Given the description of an element on the screen output the (x, y) to click on. 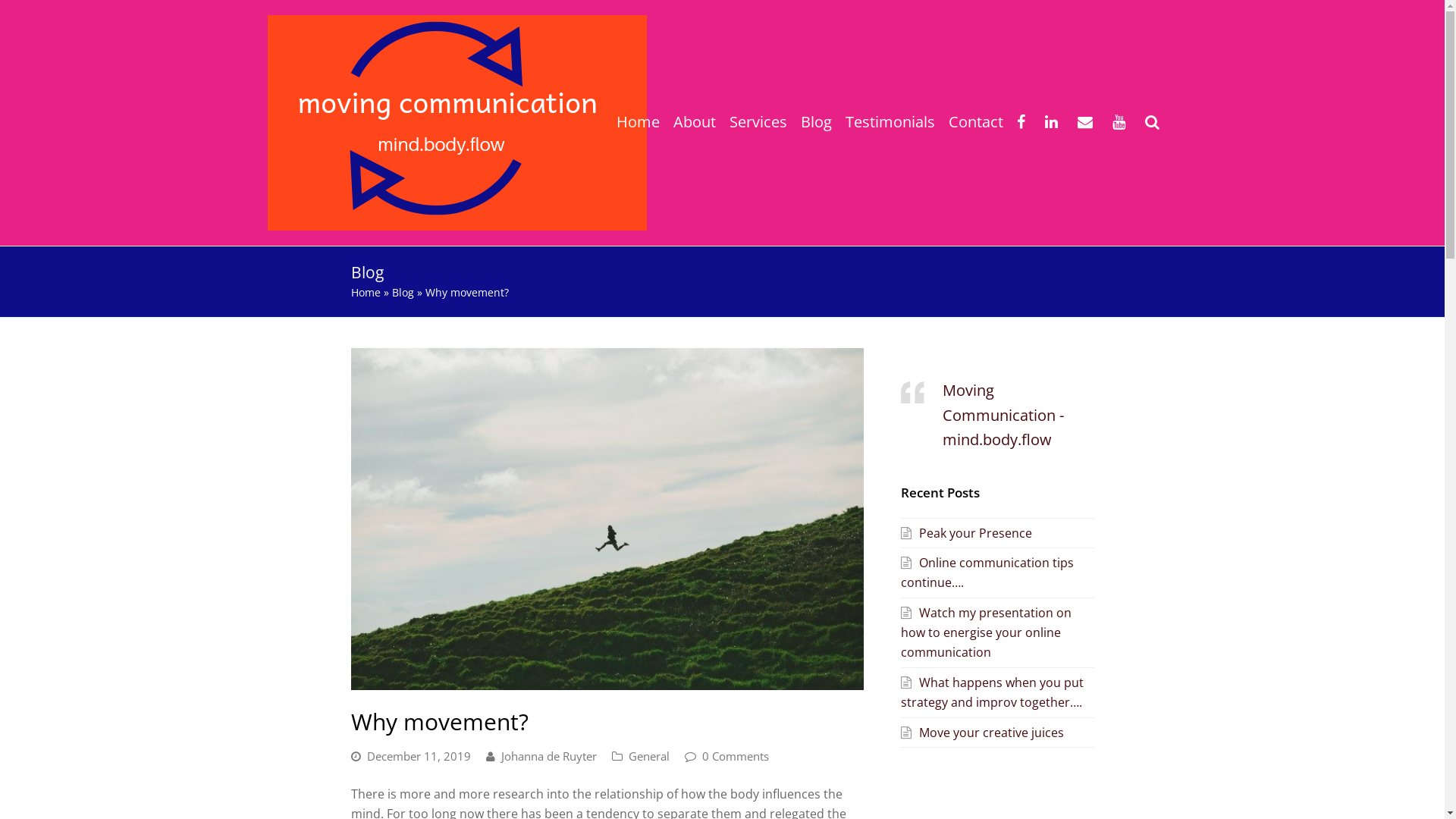
Moving Communication - mind.body.flow Element type: text (1002, 414)
Johanna de Ruyter Element type: text (548, 755)
Blog Element type: text (815, 122)
Home Element type: text (637, 122)
Moving Communication Element type: hover (456, 120)
Services Element type: text (757, 122)
Home Element type: text (364, 292)
Testimonials Element type: text (889, 122)
Peak your Presence Element type: text (966, 532)
Blog Element type: text (402, 292)
Move your creative juices Element type: text (981, 732)
Contact Element type: text (975, 122)
General Element type: text (647, 755)
About Element type: text (693, 122)
0 Comments Element type: text (735, 755)
